Given the description of an element on the screen output the (x, y) to click on. 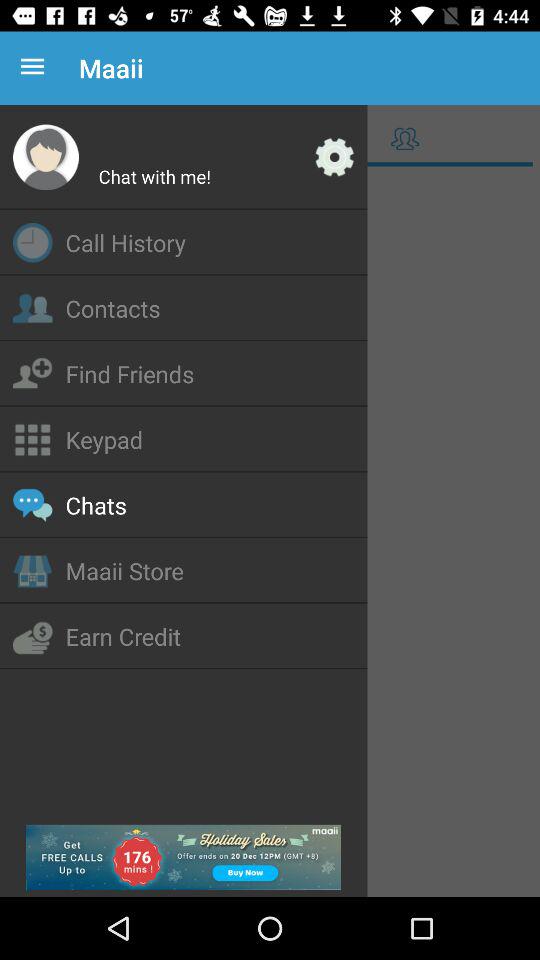
choose the icon below the earn credit (183, 857)
